Given the description of an element on the screen output the (x, y) to click on. 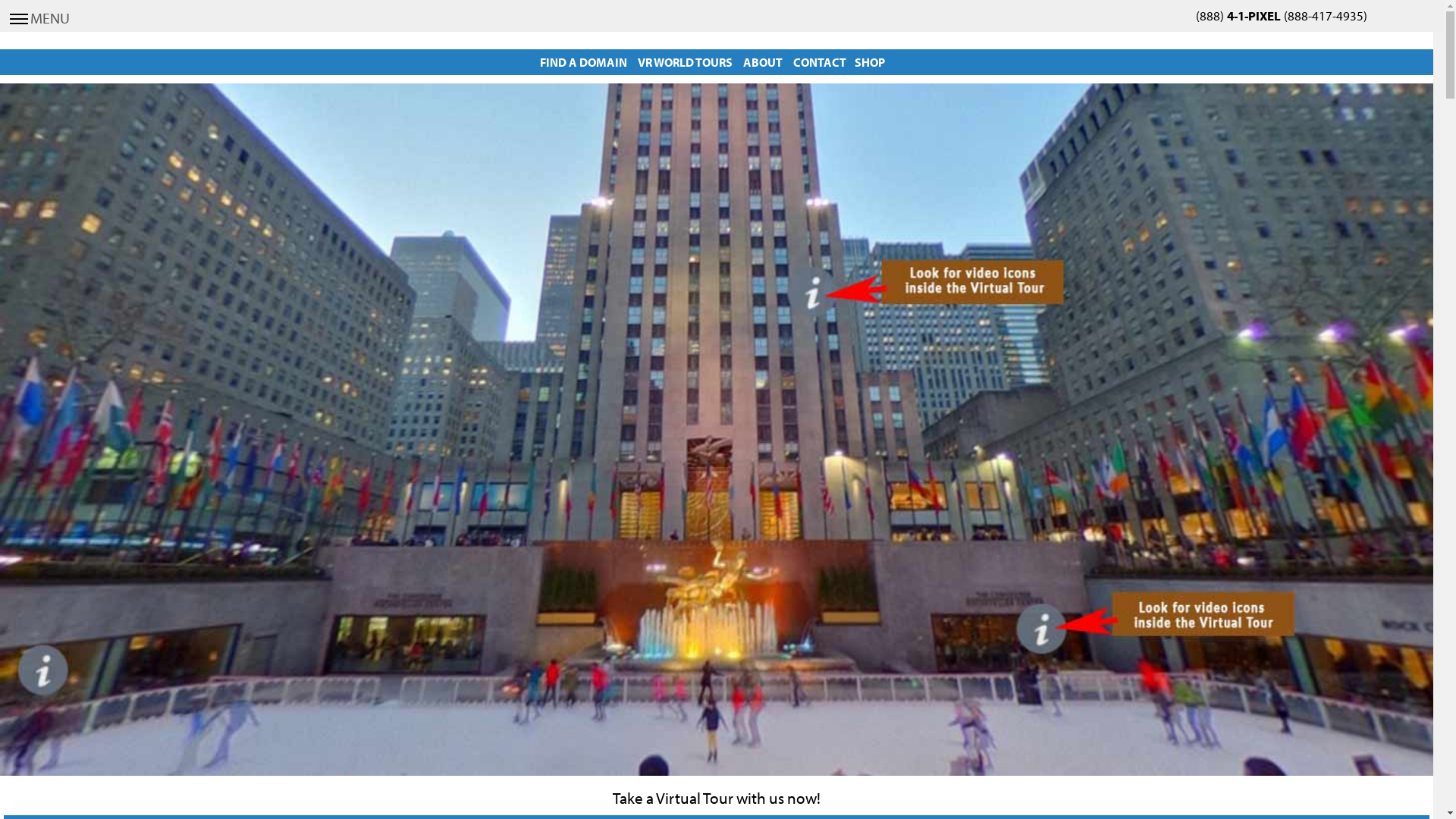
CONTACT Element type: text (819, 61)
ABOUT Element type: text (762, 61)
Take a Virtual Tour with us now! Element type: text (716, 797)
VR WORLD TOURS Element type: text (684, 61)
FIND A DOMAIN Element type: text (583, 61)
SHOP Element type: text (869, 61)
